Given the description of an element on the screen output the (x, y) to click on. 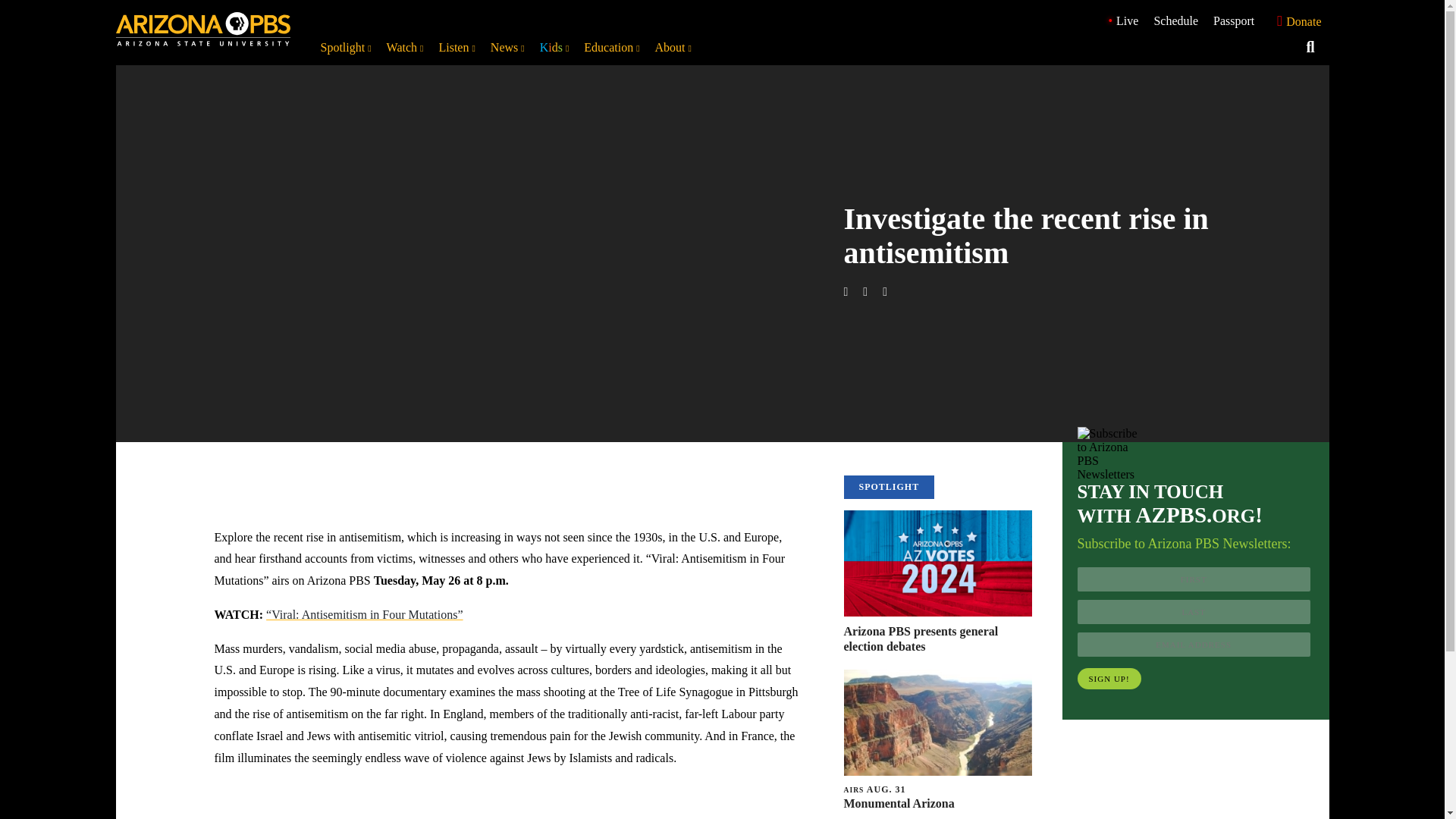
Spotlight (345, 47)
Schedule (1175, 19)
Schedule (1175, 20)
SKIP TO CONTENT (15, 7)
Donate (1294, 21)
Sign up! (1108, 678)
Donate (1294, 20)
Passport (1232, 19)
Passport (1233, 20)
Watch (404, 47)
